Given the description of an element on the screen output the (x, y) to click on. 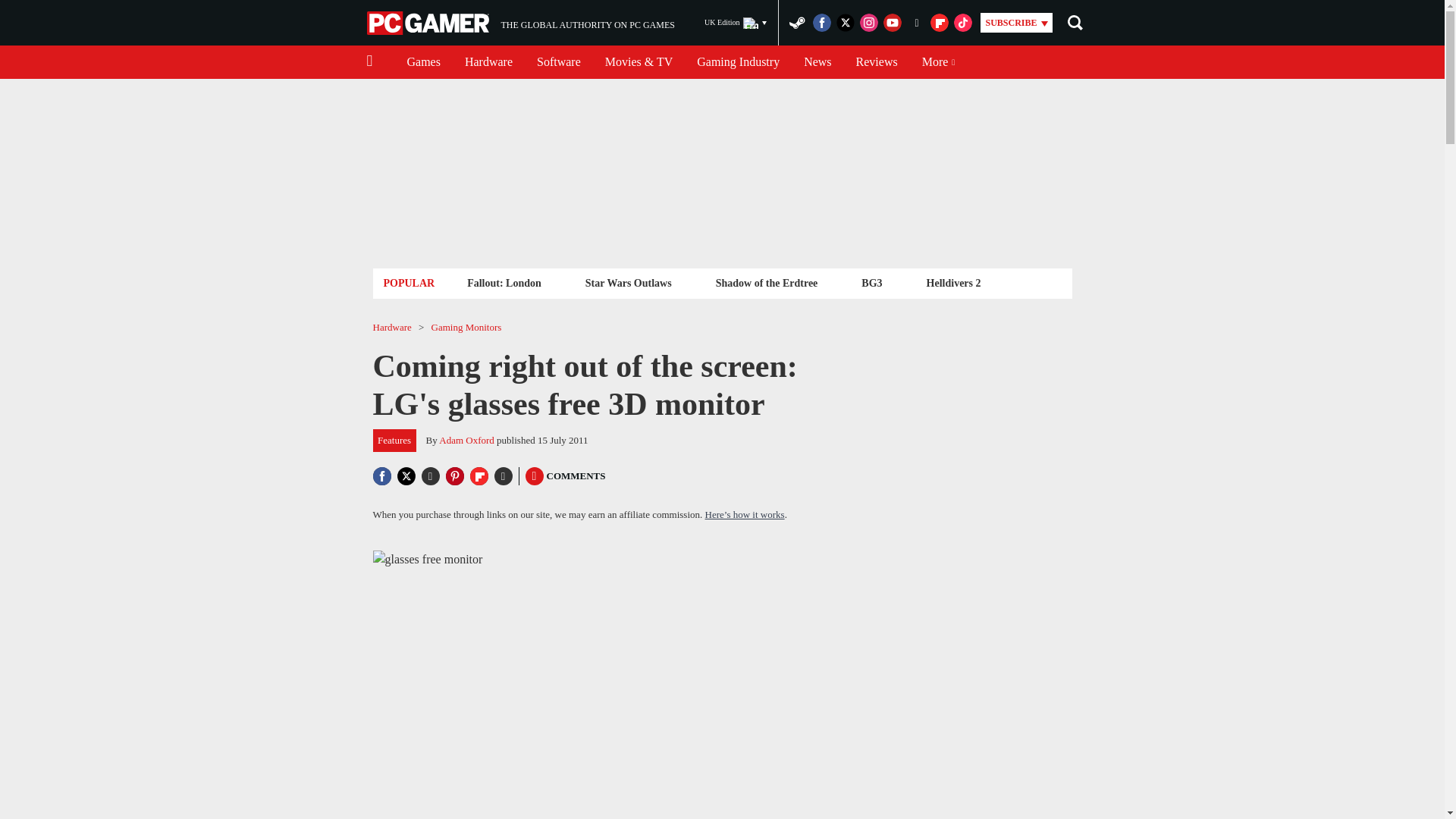
Hardware (488, 61)
Software (558, 61)
Reviews (877, 61)
News (817, 61)
PC Gamer (429, 22)
Fallout: London (504, 282)
UK Edition (735, 22)
Star Wars Outlaws (628, 282)
Gaming Industry (738, 61)
Games (520, 22)
